Given the description of an element on the screen output the (x, y) to click on. 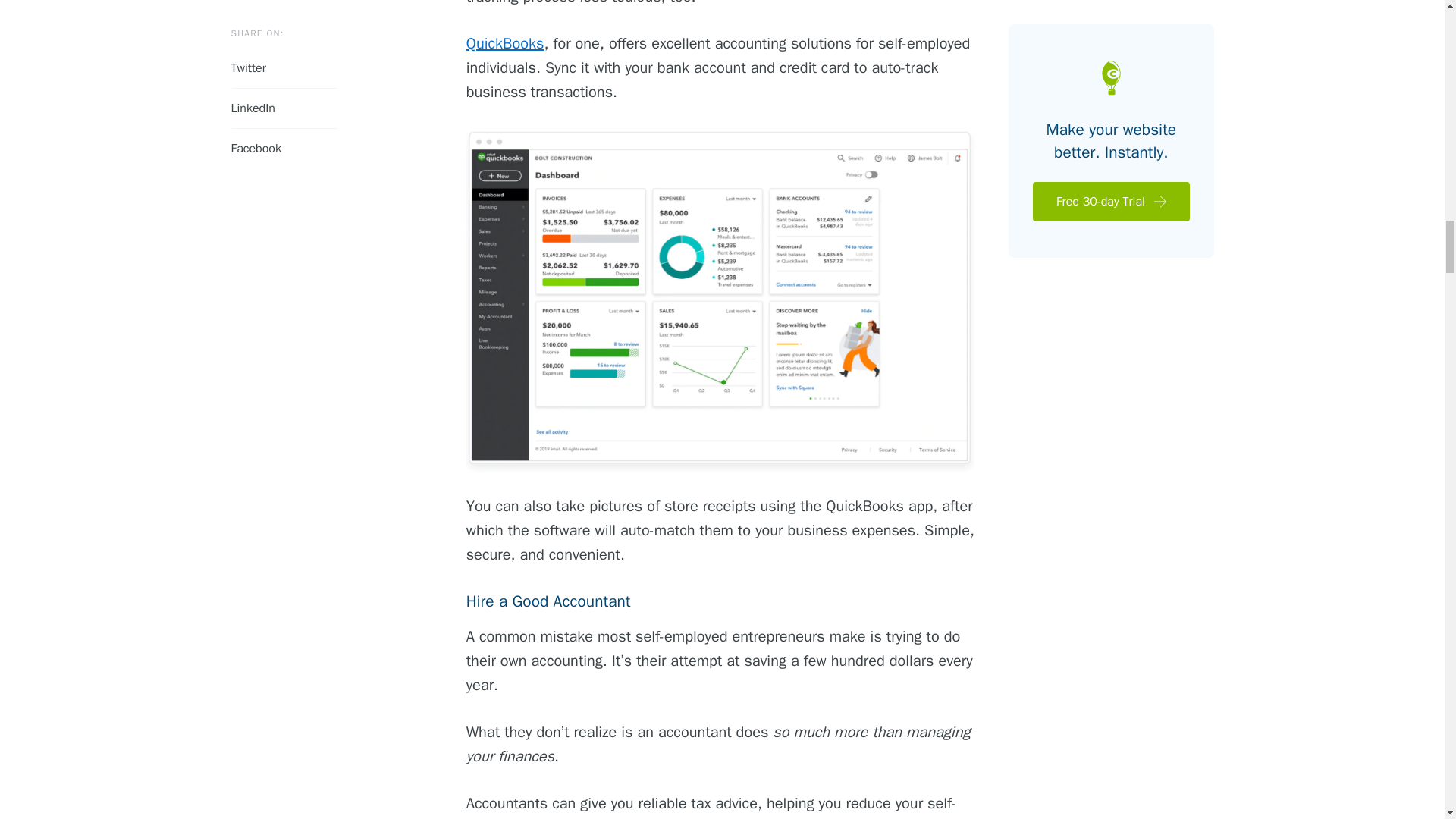
QuickBooks (504, 43)
